Given the description of an element on the screen output the (x, y) to click on. 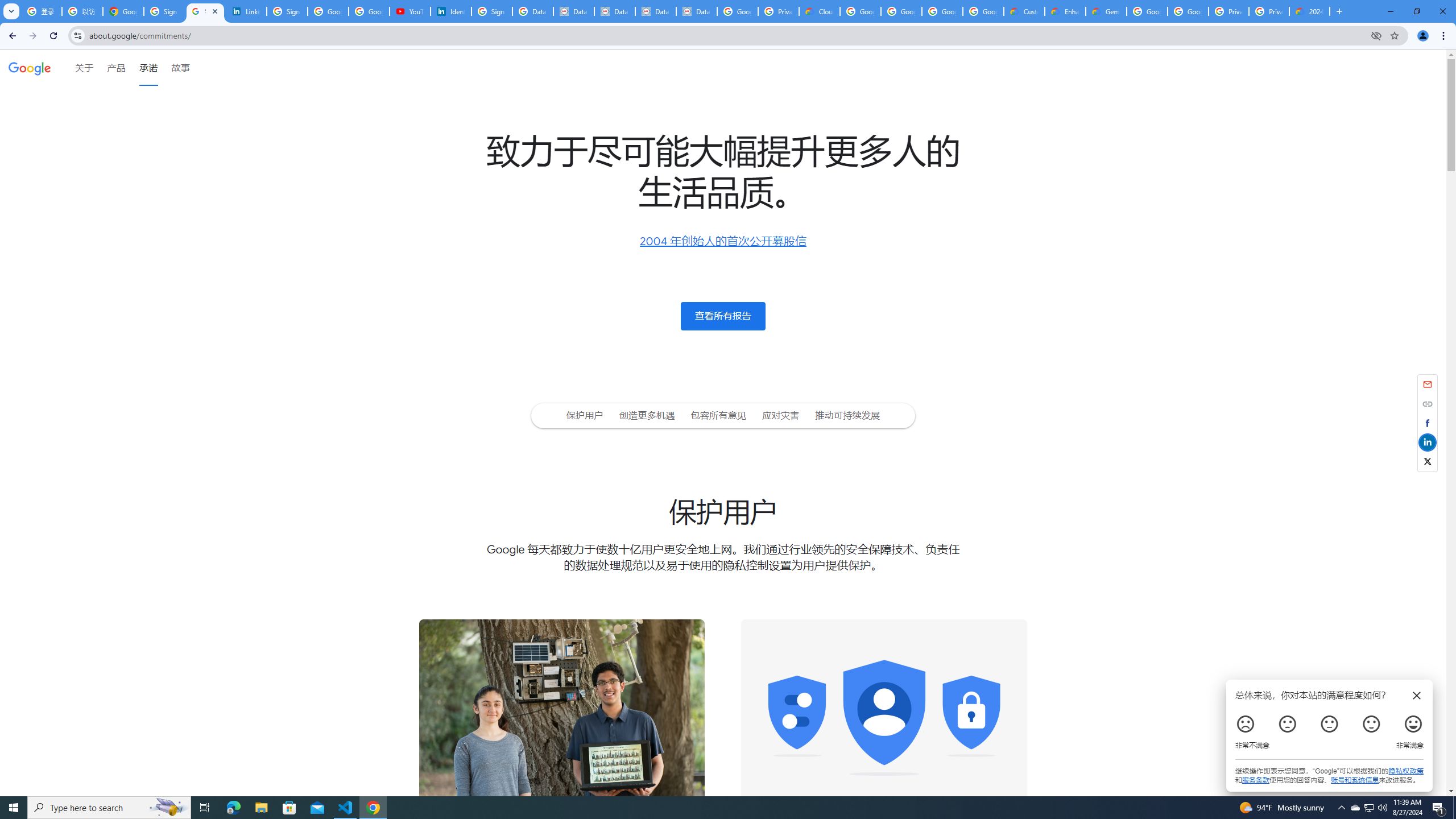
Data Privacy Framework (614, 11)
